Given the description of an element on the screen output the (x, y) to click on. 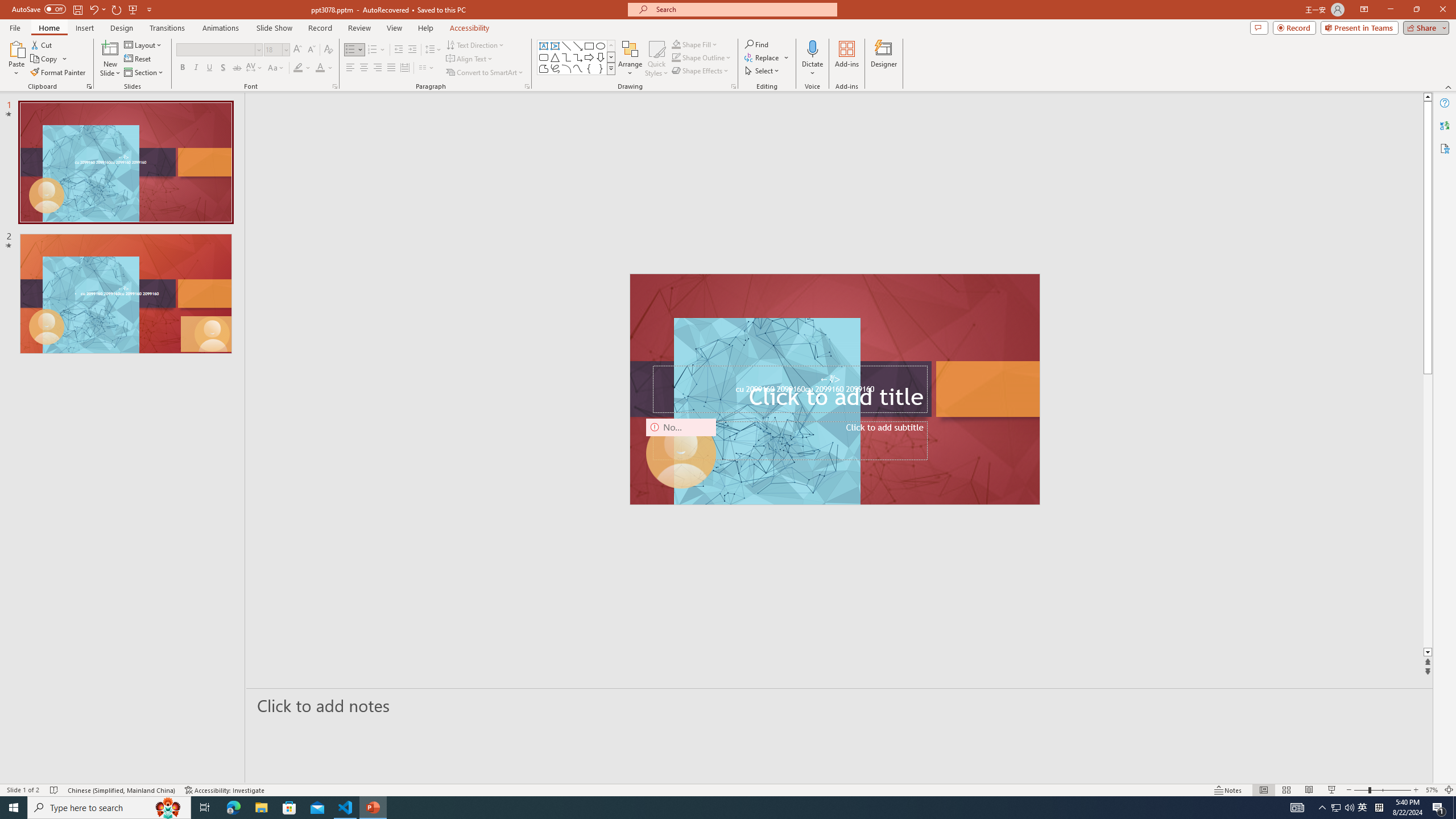
Distributed (404, 67)
Isosceles Triangle (554, 57)
Arrange (630, 58)
Font... (334, 85)
Strikethrough (237, 67)
Connector: Elbow (566, 57)
Line Arrow (577, 45)
